Given the description of an element on the screen output the (x, y) to click on. 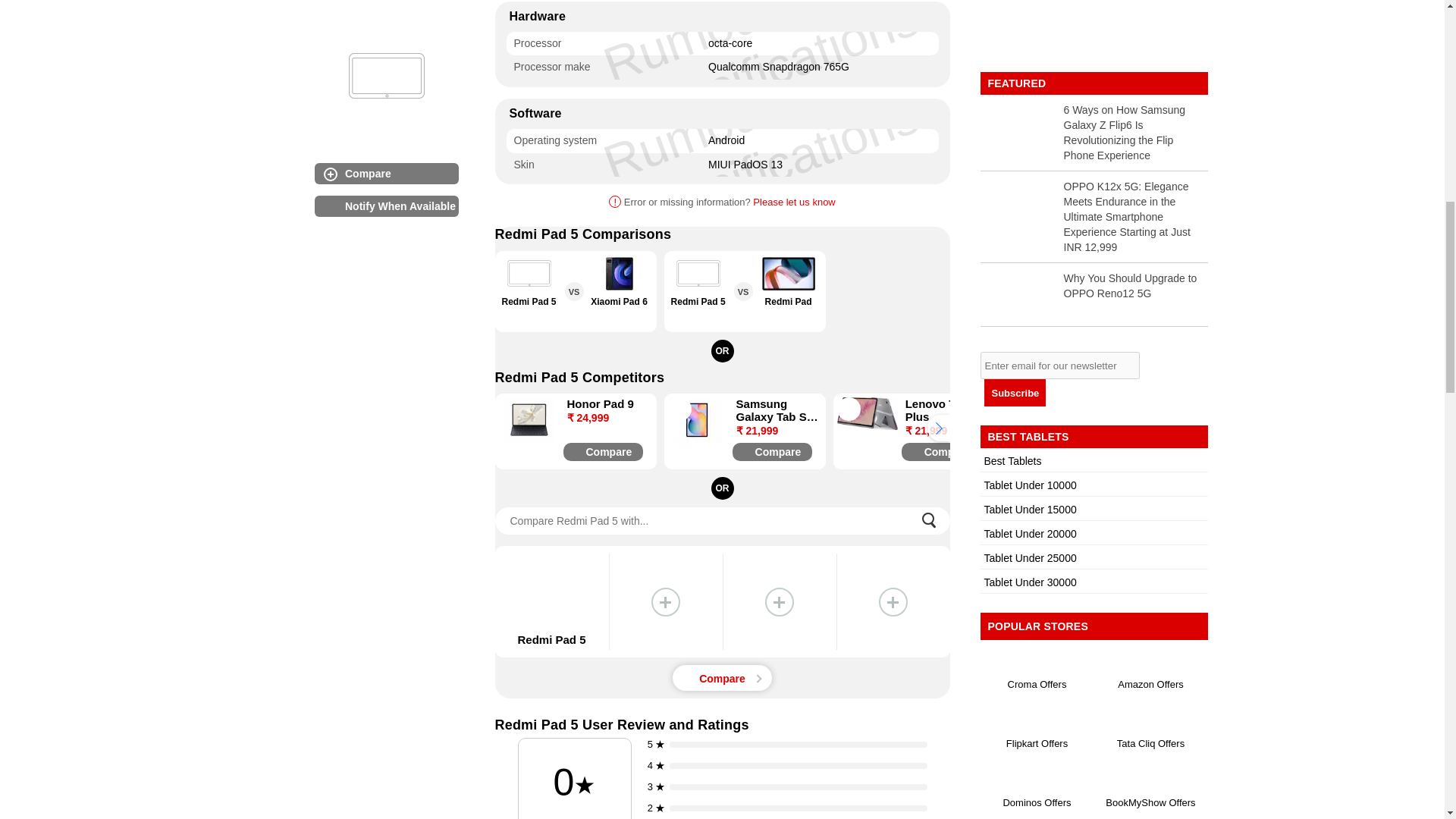
Subscribe (1014, 392)
